Given the description of an element on the screen output the (x, y) to click on. 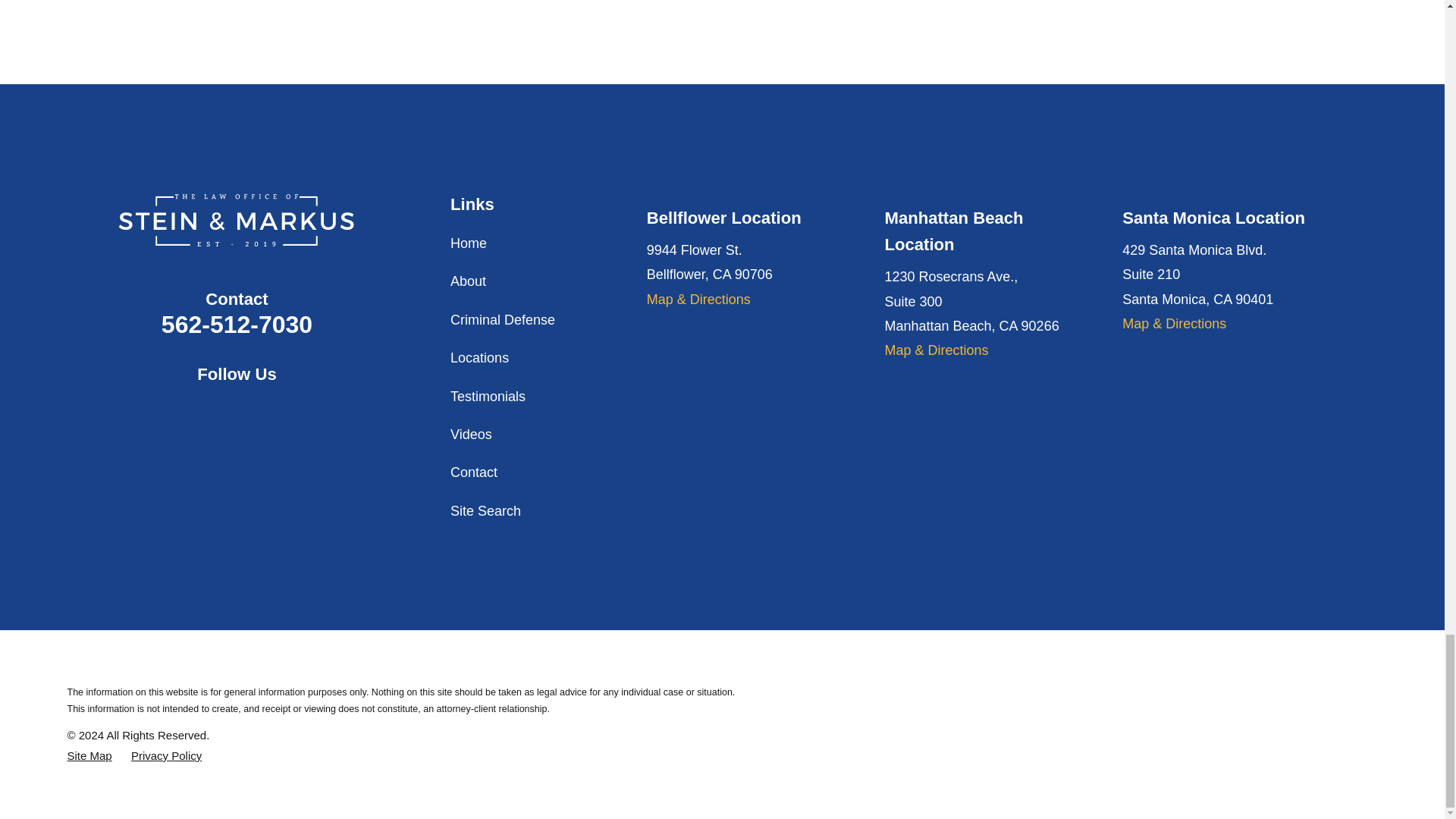
Twitter (236, 411)
Facebook (196, 411)
Home (236, 220)
LinkedIn (275, 411)
